Given the description of an element on the screen output the (x, y) to click on. 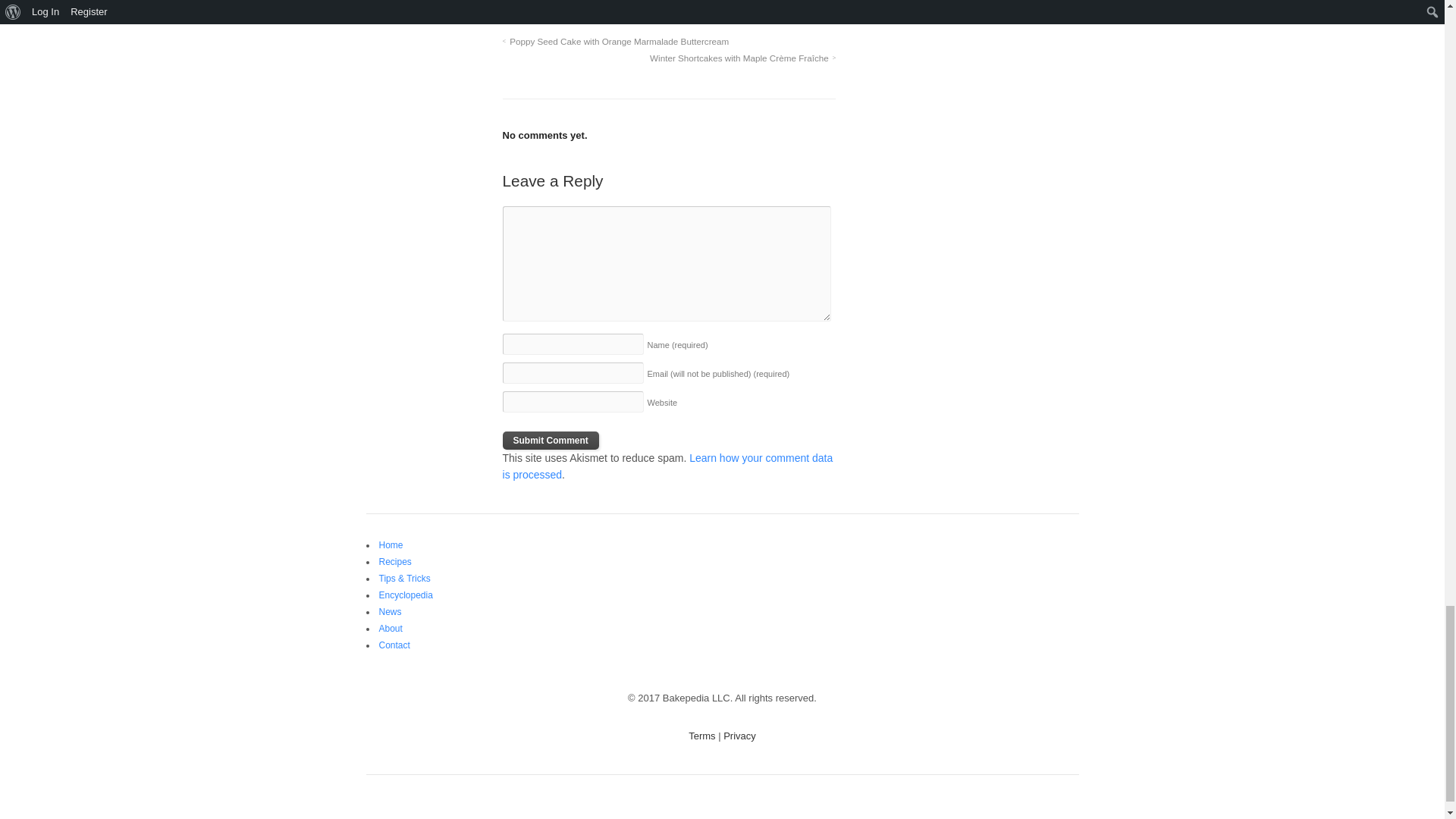
Learn how your comment data is processed (667, 466)
slab pie (735, 10)
Submit Comment (550, 440)
Submit Comment (550, 440)
apple raspberry slab pie (572, 10)
Poppy Seed Cake with Orange Marmalade Buttercream (615, 40)
apple slab pie (675, 10)
